Given the description of an element on the screen output the (x, y) to click on. 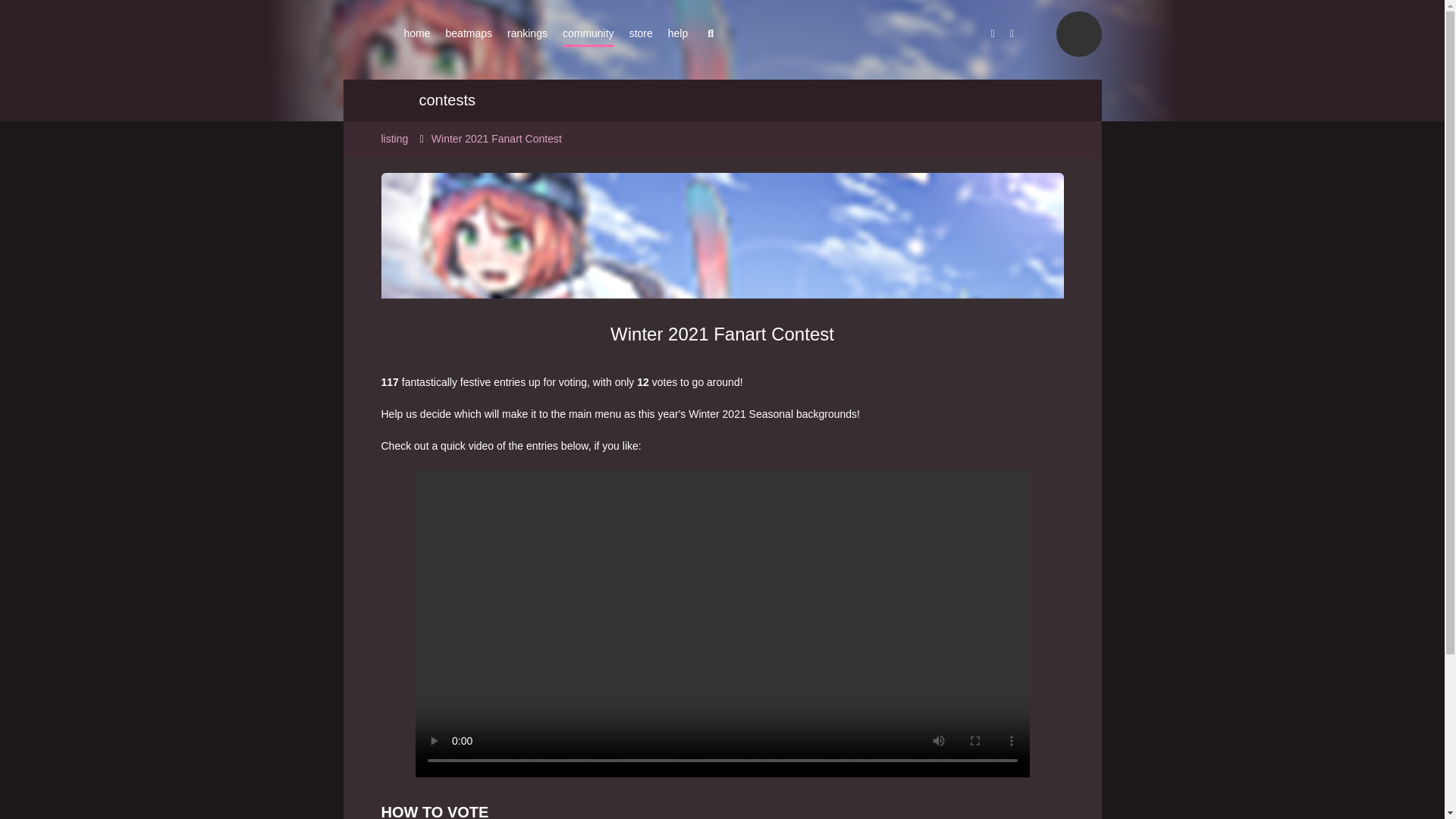
click to sign in (1077, 33)
